Given the description of an element on the screen output the (x, y) to click on. 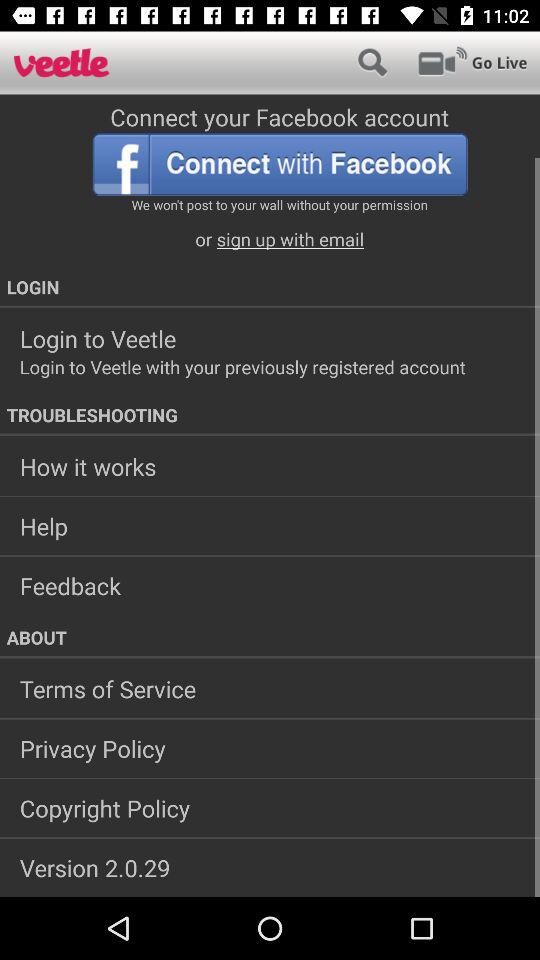
go home (61, 62)
